Given the description of an element on the screen output the (x, y) to click on. 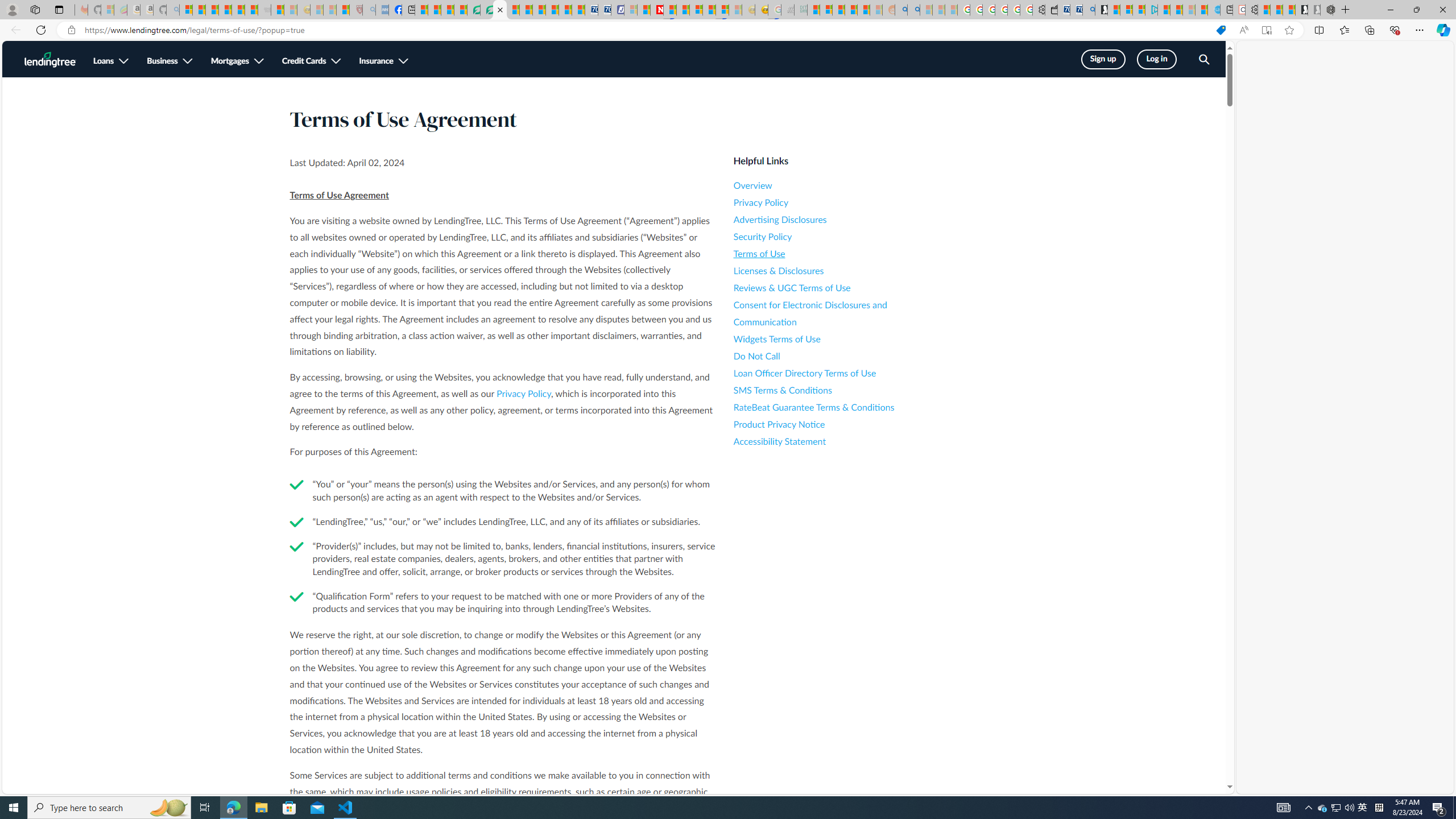
Security Policy (836, 236)
Latest Politics News & Archive | Newsweek.com (656, 9)
Business, see more (169, 61)
Widgets Terms of Use (836, 339)
Terms of Use Agreement (500, 9)
Cheap Hotels - Save70.com (603, 9)
Utah sues federal government - Search (913, 9)
Credit Cards, see more (311, 61)
